Given the description of an element on the screen output the (x, y) to click on. 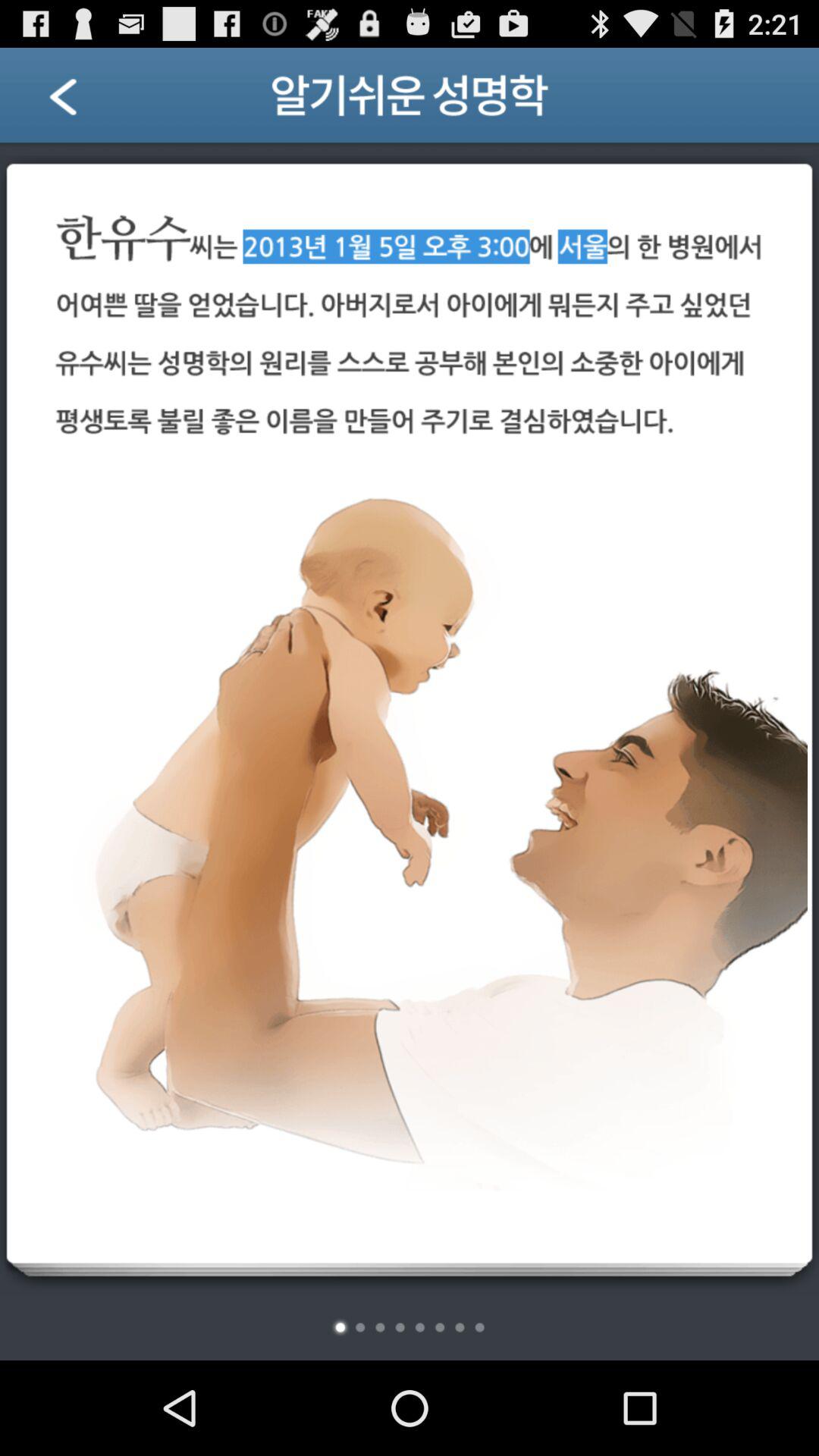
moves back to previous screen (81, 101)
